Given the description of an element on the screen output the (x, y) to click on. 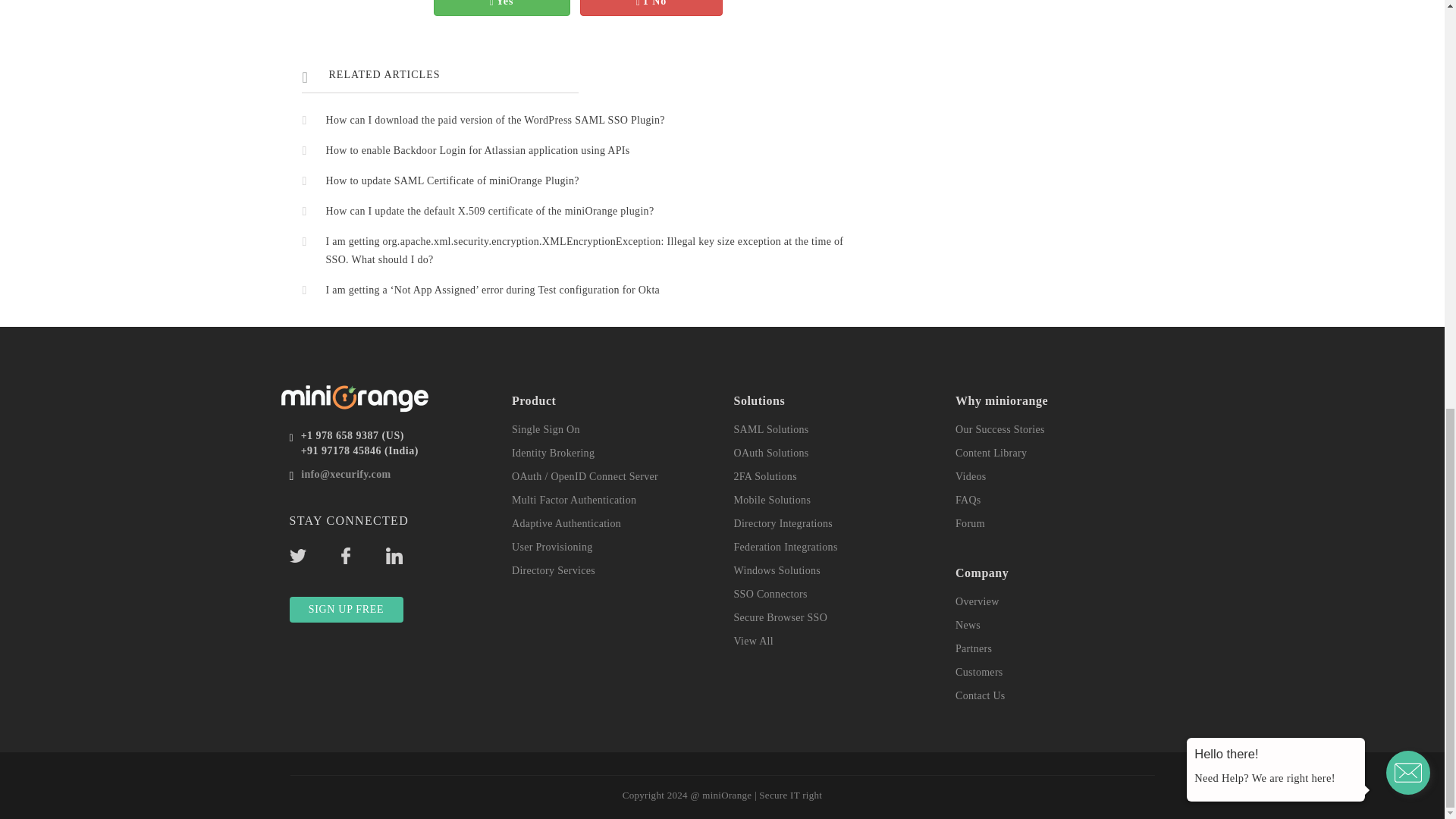
Directory Services (553, 570)
Federation Integrations (785, 546)
SIGN UP FREE (346, 609)
1 No (650, 3)
Adaptive Authentication (566, 523)
Yes (501, 3)
2FA Solutions (764, 476)
How to update SAML Certificate of miniOrange Plugin? (452, 180)
